Given the description of an element on the screen output the (x, y) to click on. 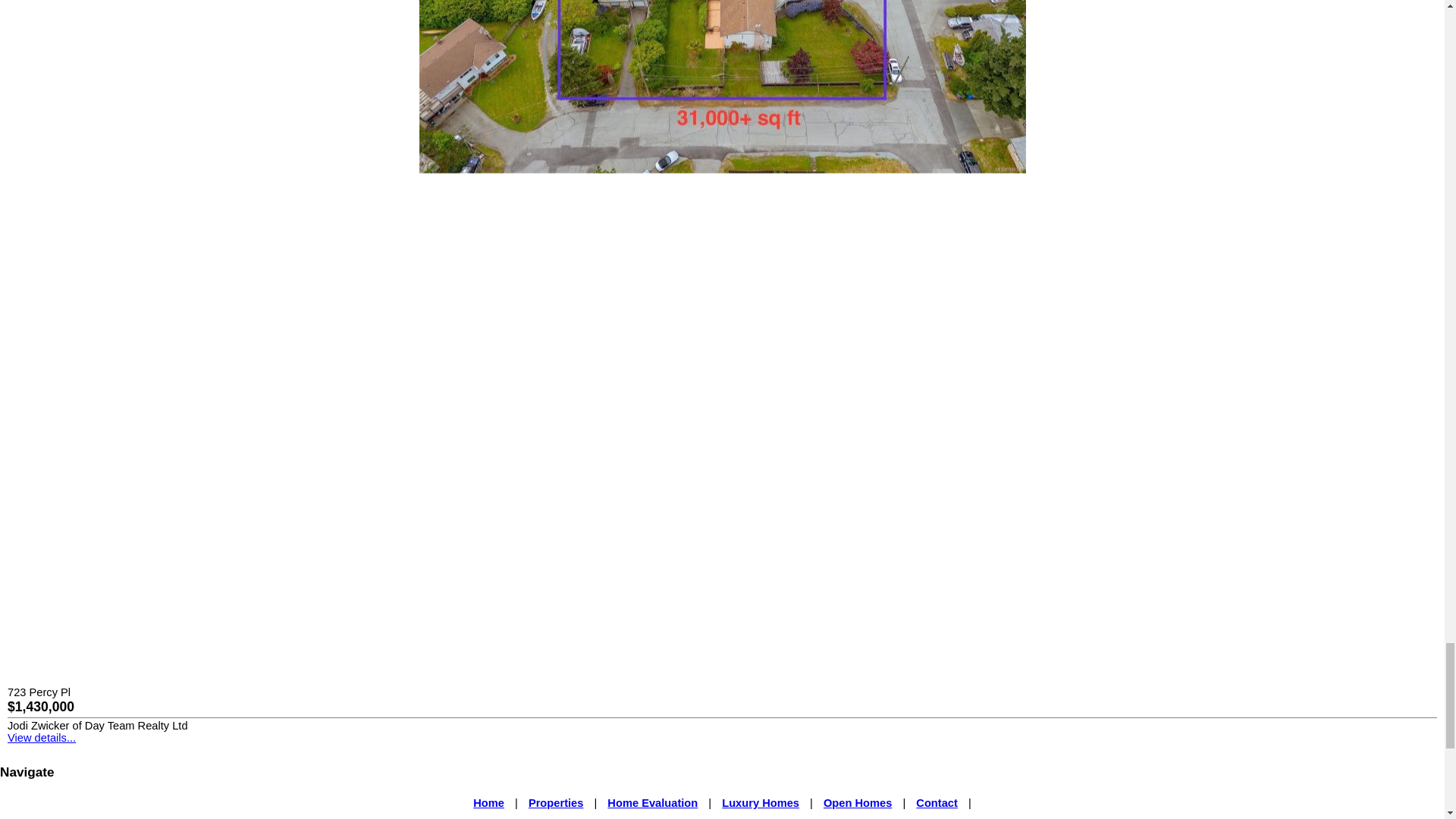
Properties (555, 802)
Luxury Homes (760, 802)
Home Evaluation (652, 802)
Open Homes (857, 802)
Home (488, 802)
Contact (936, 802)
